Given the description of an element on the screen output the (x, y) to click on. 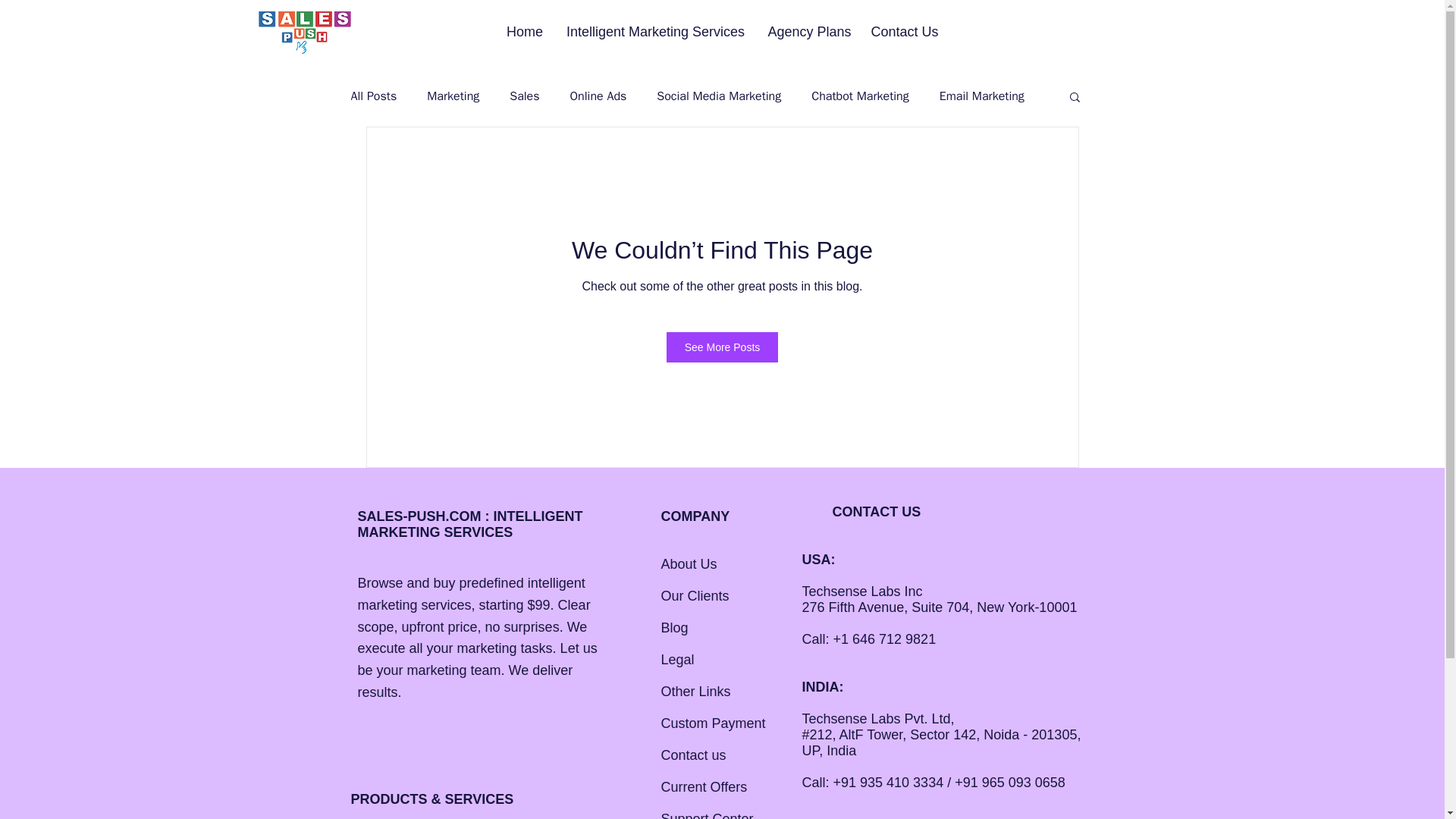
Contact Us (905, 31)
Marketing (452, 95)
Social Media Marketing (718, 95)
Support Center (707, 815)
Legal (677, 659)
Custom Payment (713, 723)
Sales (523, 95)
Online Ads (598, 95)
Contact us (693, 754)
Home (524, 31)
